Given the description of an element on the screen output the (x, y) to click on. 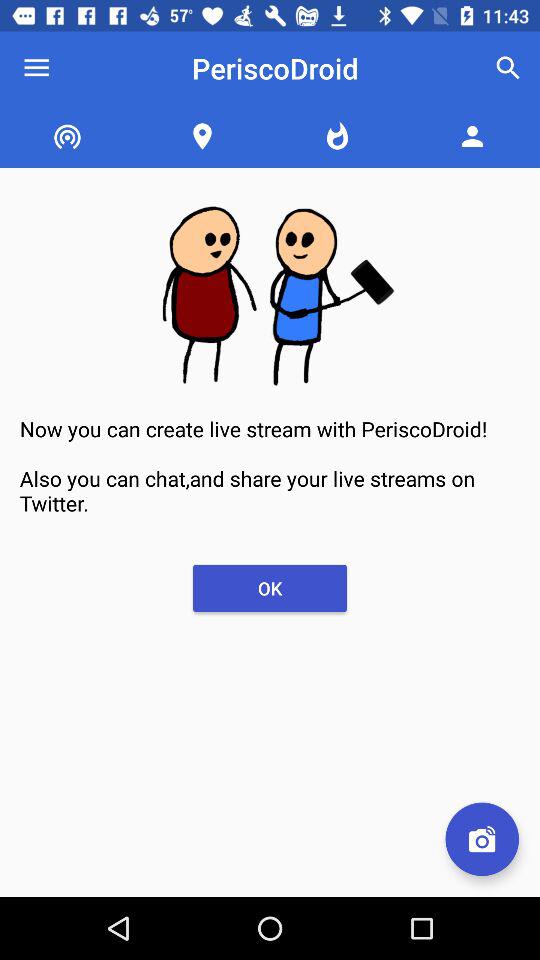
tap the icon next to periscodroid item (36, 68)
